Given the description of an element on the screen output the (x, y) to click on. 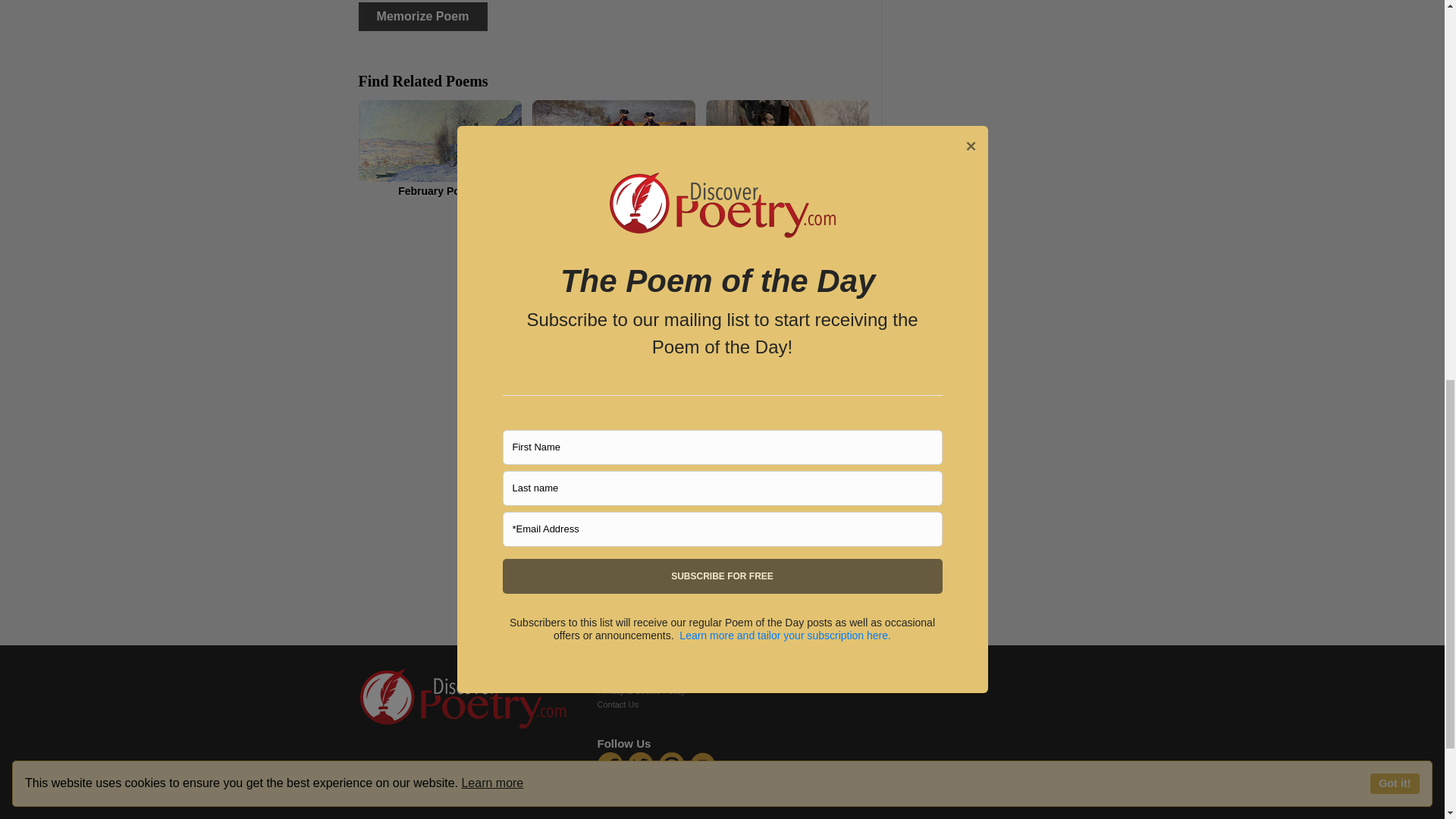
Abraham Lincoln Poems (785, 148)
February Poems (439, 148)
Contact Us (617, 704)
George Washington Poems (613, 148)
